Given the description of an element on the screen output the (x, y) to click on. 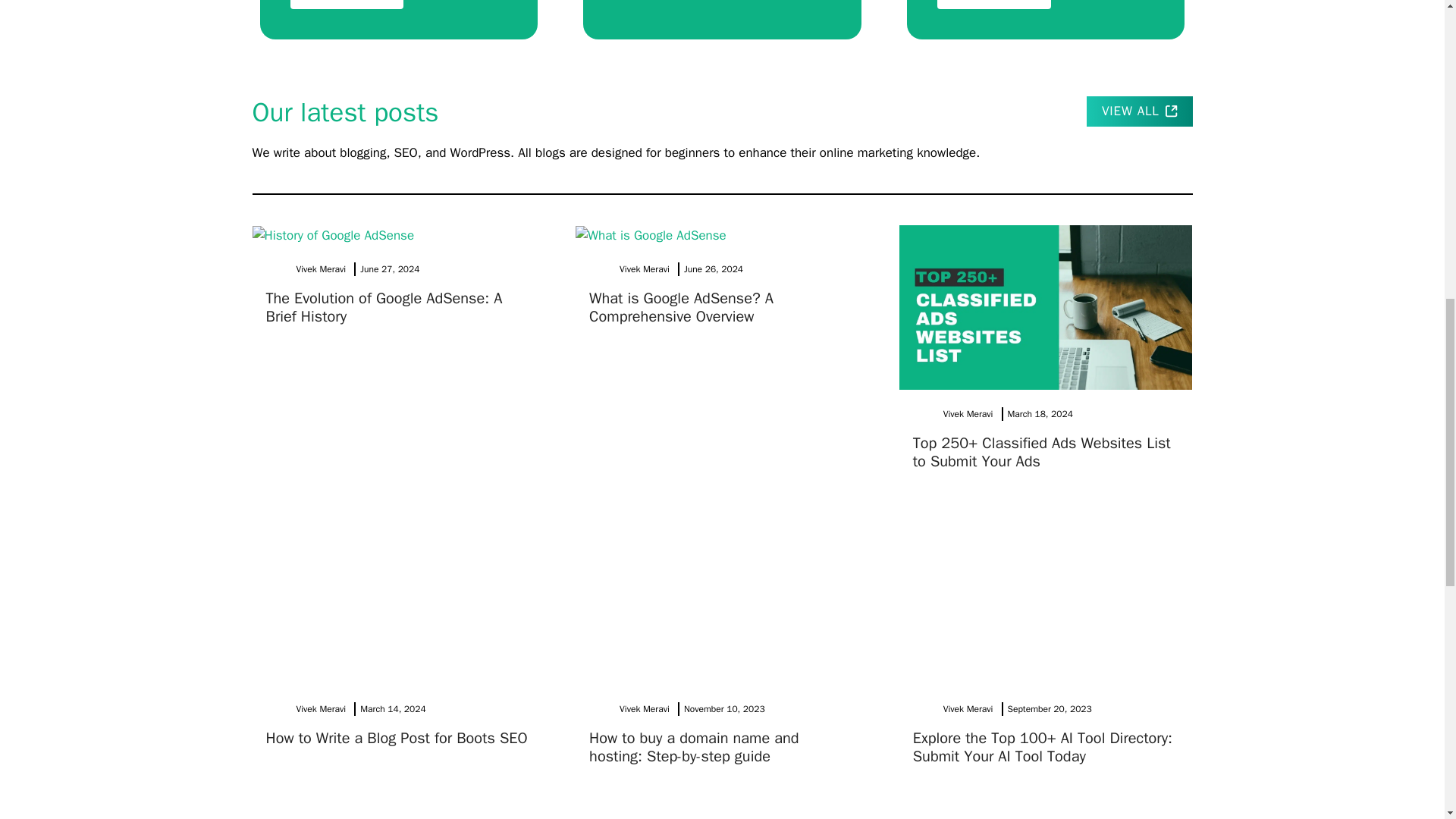
Learn More (994, 4)
VIEW ALL (1139, 111)
The Evolution of Google AdSense: A Brief History (383, 307)
Learn More (346, 4)
What is Google AdSense? A Comprehensive Overview (681, 307)
How to Write a Blog Post for Boots SEO (395, 737)
How to buy a domain name and hosting: Step-by-step guide (693, 746)
